Given the description of an element on the screen output the (x, y) to click on. 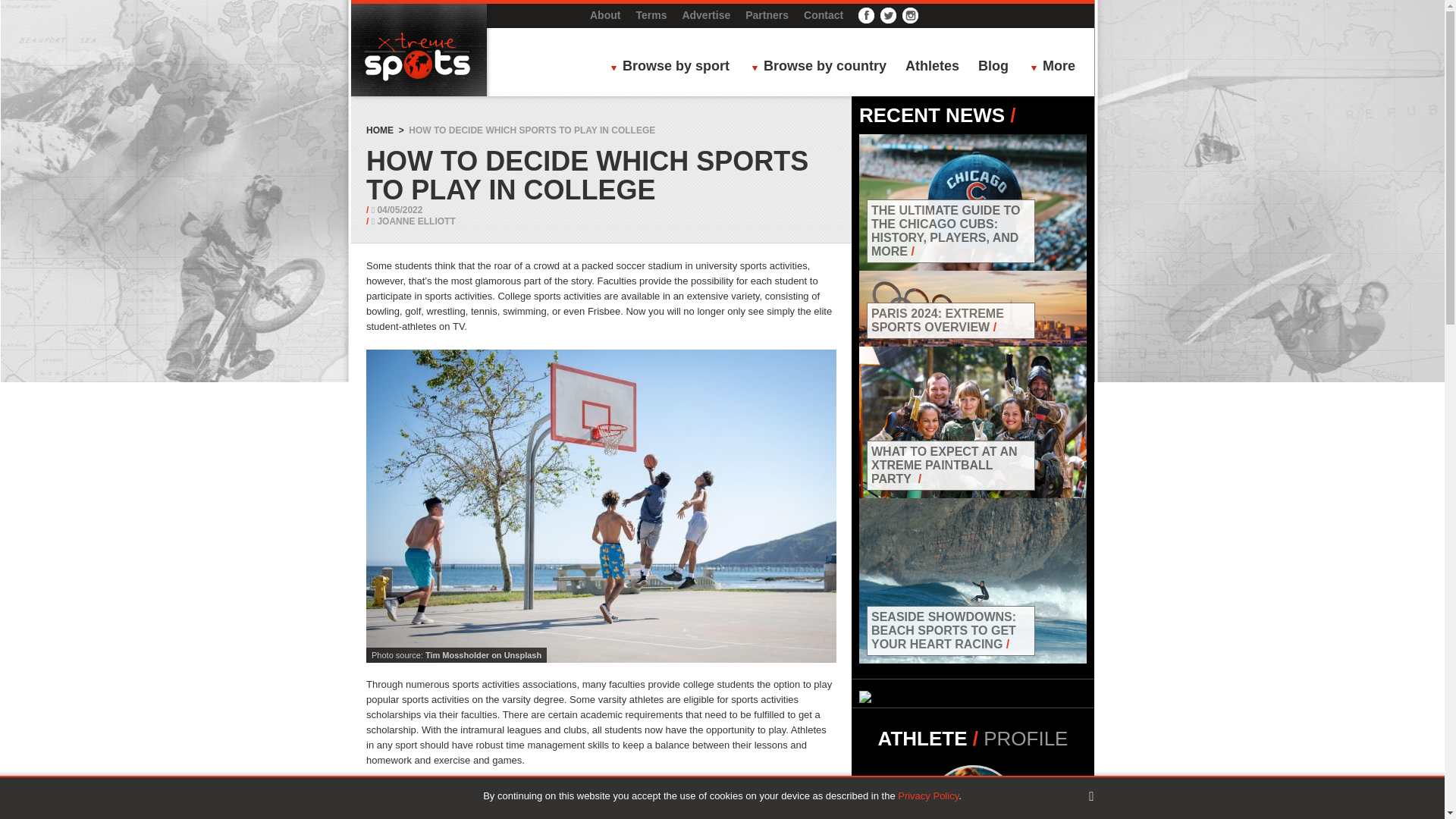
PARIS 2024: EXTREME SPORTS OVERVIEW (937, 320)
HOME (379, 130)
Browse by country (823, 67)
Terms (650, 15)
Partners (767, 15)
Advertise (705, 15)
WHAT TO EXPECT AT AN XTREME PAINTBALL PARTY  (943, 465)
More (1056, 67)
Contact (823, 15)
Blog (993, 67)
About (604, 15)
RECENT NEWS (931, 115)
Athletes (932, 67)
SEASIDE SHOWDOWNS: BEACH SPORTS TO GET YOUR HEART RACING (943, 630)
